Given the description of an element on the screen output the (x, y) to click on. 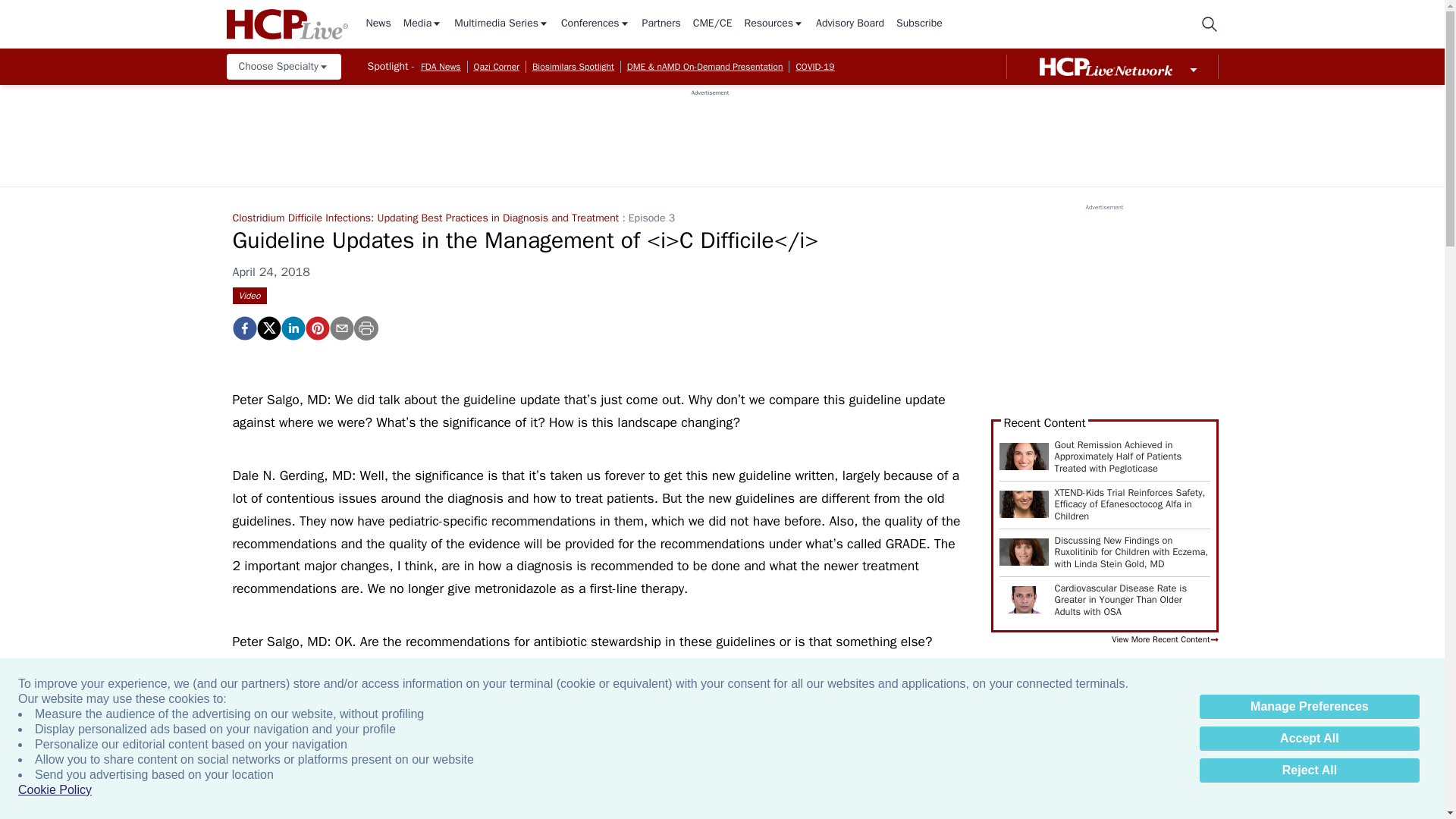
Multimedia Series (501, 23)
Reject All (1309, 769)
Cookie Policy (54, 789)
Advisory Board (849, 23)
Accept All (1309, 738)
Conferences (595, 23)
Partners (661, 23)
3rd party ad content (709, 131)
Manage Preferences (1309, 706)
Media (422, 23)
Resources (773, 23)
News (377, 23)
